Given the description of an element on the screen output the (x, y) to click on. 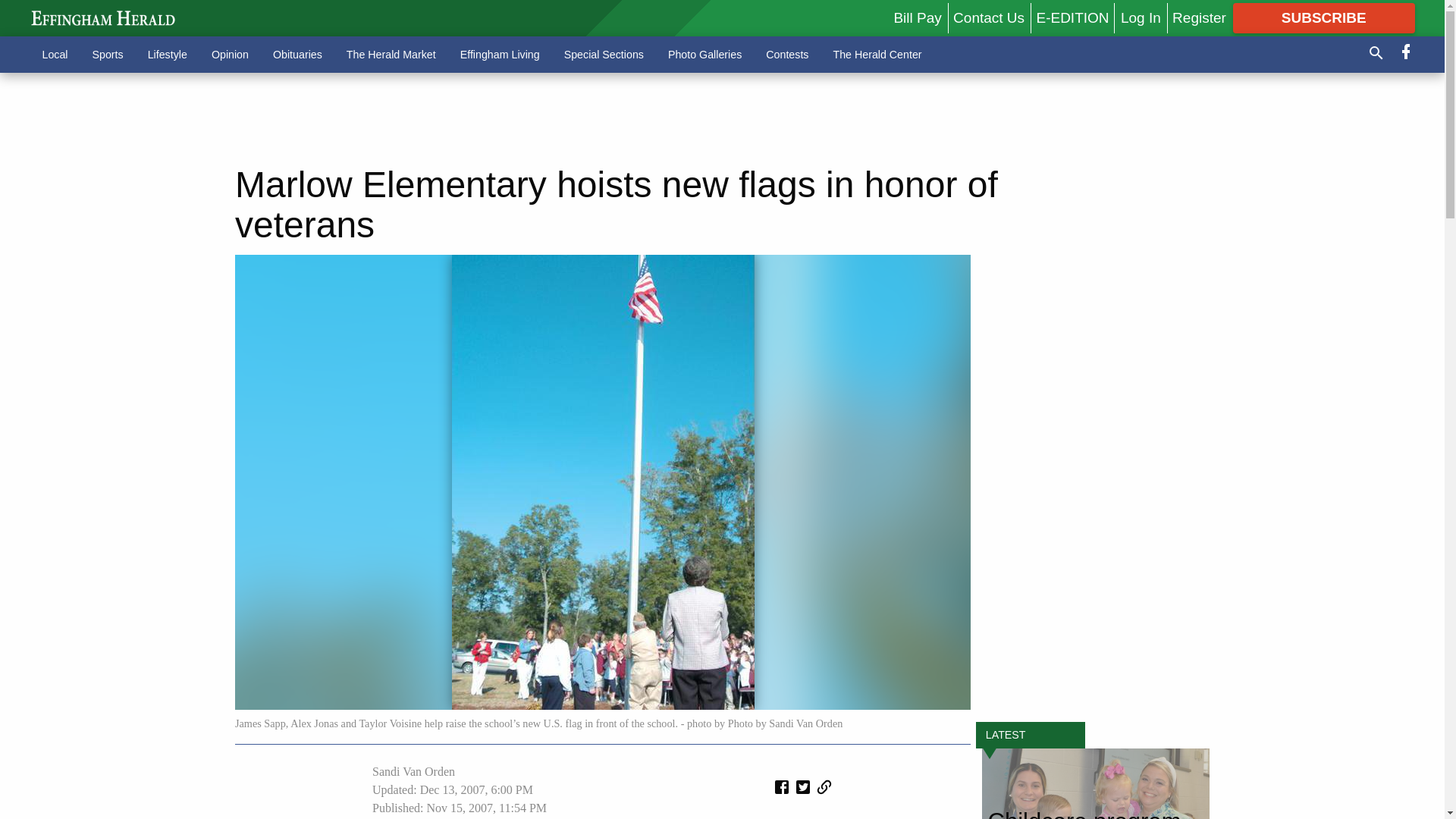
Log In (1140, 17)
SUBSCRIBE (1324, 18)
Sports (107, 54)
Special Sections (603, 54)
Effingham Living (499, 54)
Register (1198, 17)
E-EDITION (1071, 17)
Opinion (229, 54)
The Herald Market (391, 54)
Photo Galleries (705, 54)
Local (55, 54)
Bill Pay (916, 17)
Contact Us (989, 17)
The Herald Center (877, 54)
Contests (787, 54)
